Given the description of an element on the screen output the (x, y) to click on. 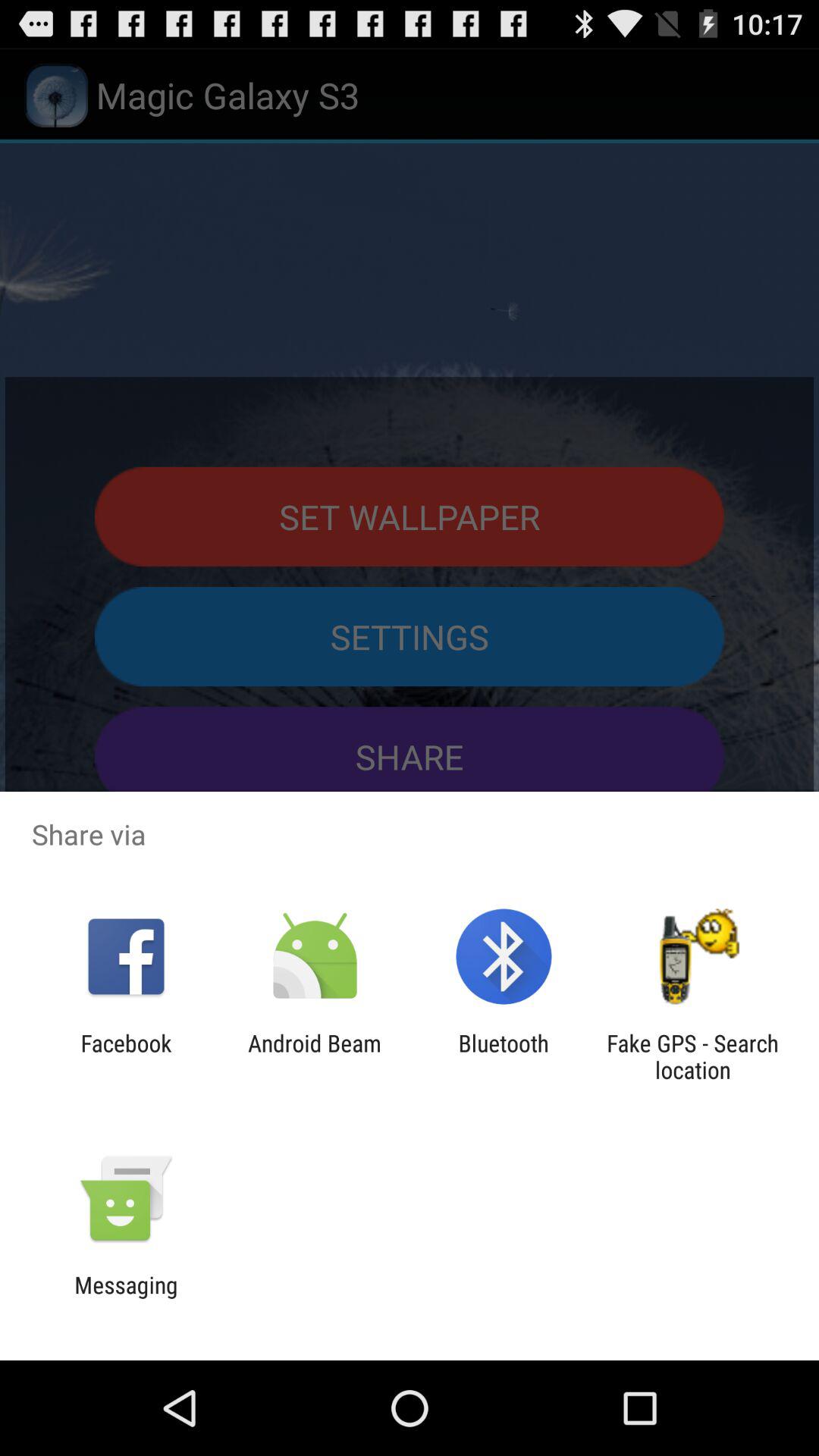
scroll to the fake gps search icon (692, 1056)
